Given the description of an element on the screen output the (x, y) to click on. 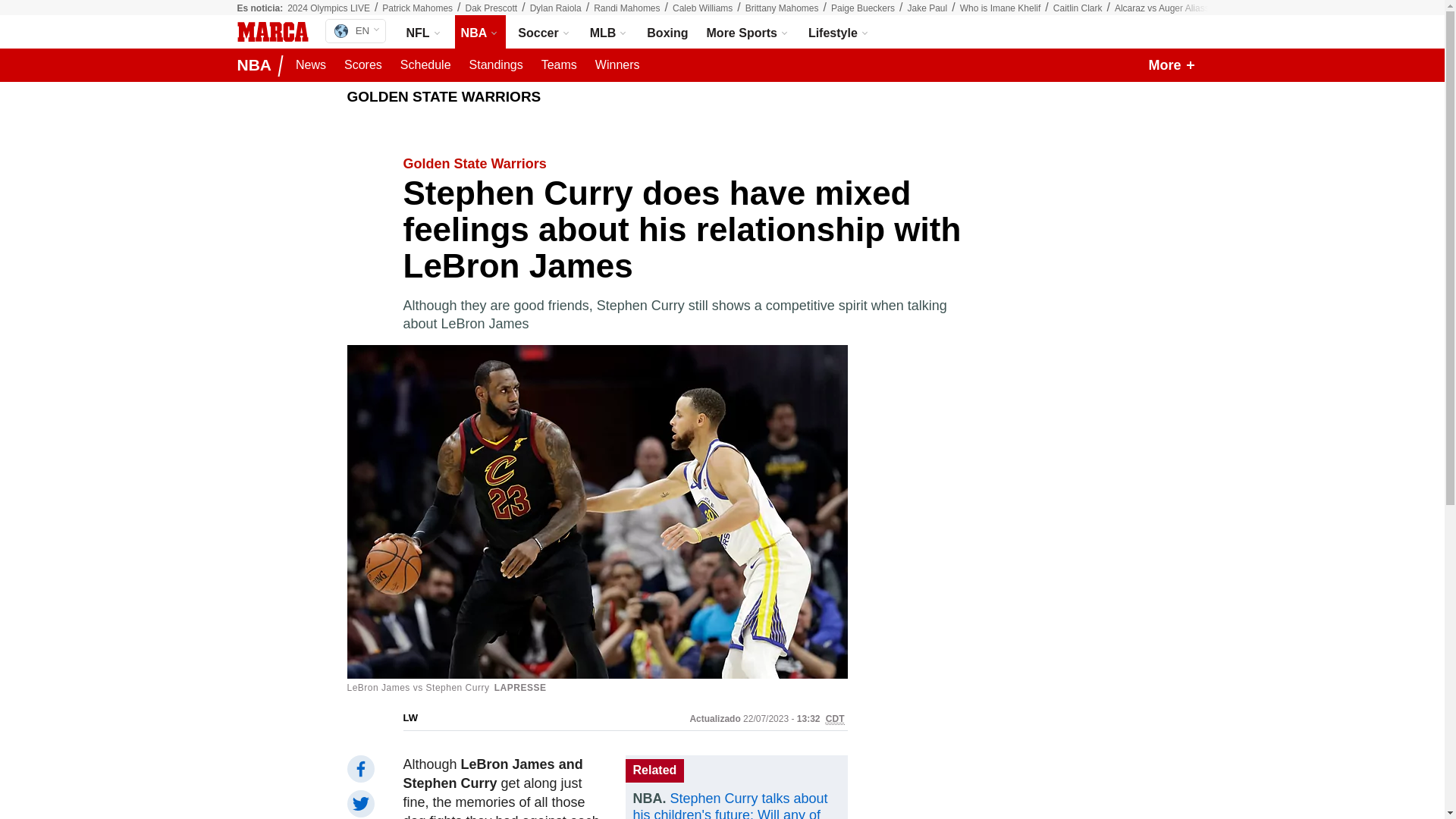
2024 Olympics LIVE (327, 8)
Winners (617, 64)
Caleb Williams (702, 8)
More Sports (748, 31)
MLB (608, 31)
Dylan Raiola (554, 8)
Boxing (667, 31)
NBA (480, 31)
NFL (424, 31)
Schedule (425, 64)
Lifestyle (839, 31)
Central Daylight Time (834, 718)
Alcaraz vs Auger Aliassime (1169, 8)
MLB (608, 31)
NFL (424, 31)
